Given the description of an element on the screen output the (x, y) to click on. 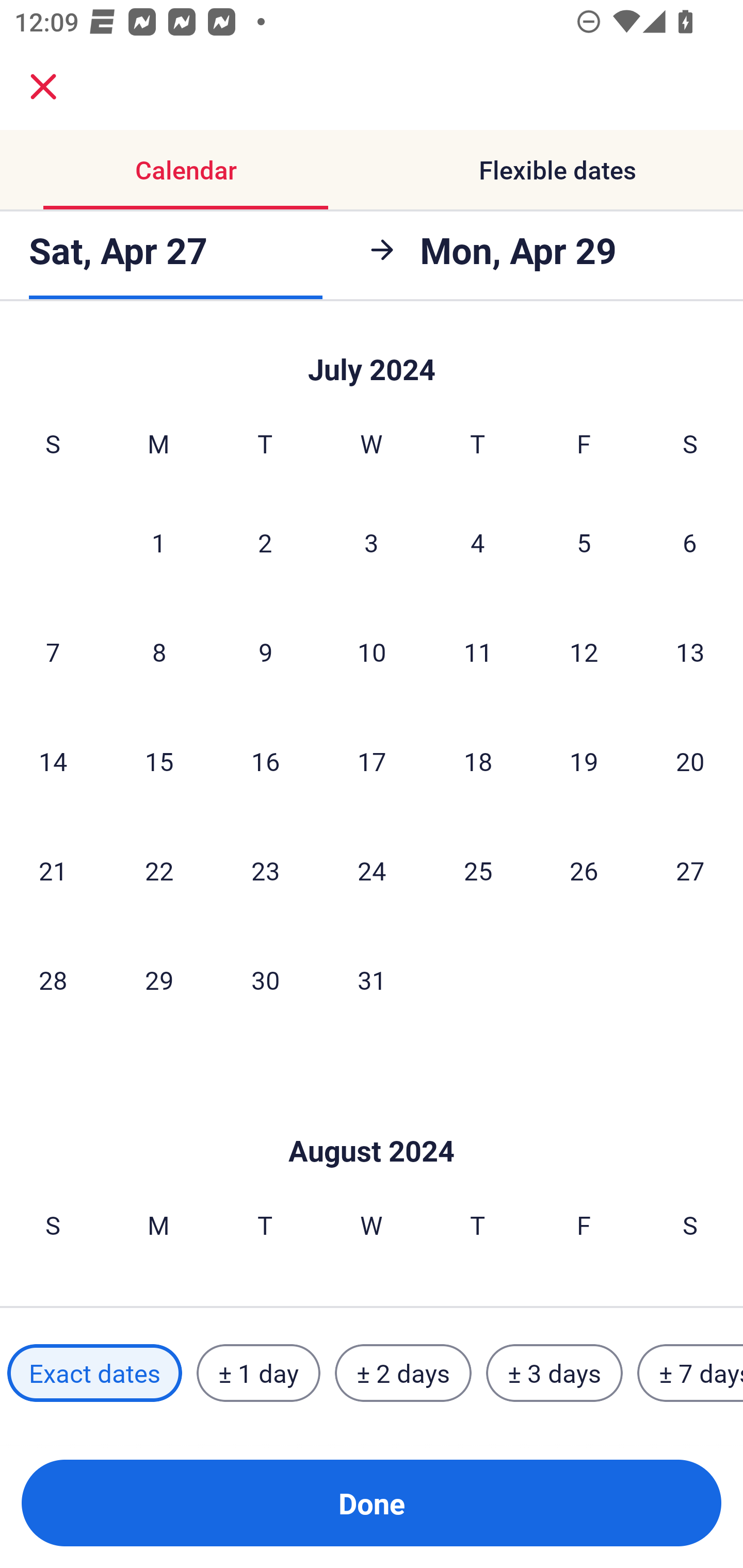
close. (43, 86)
Flexible dates (557, 170)
Skip to Done (371, 356)
1 Monday, July 1, 2024 (158, 542)
2 Tuesday, July 2, 2024 (264, 542)
3 Wednesday, July 3, 2024 (371, 542)
4 Thursday, July 4, 2024 (477, 542)
5 Friday, July 5, 2024 (583, 542)
6 Saturday, July 6, 2024 (689, 542)
7 Sunday, July 7, 2024 (53, 651)
8 Monday, July 8, 2024 (159, 651)
9 Tuesday, July 9, 2024 (265, 651)
10 Wednesday, July 10, 2024 (371, 651)
11 Thursday, July 11, 2024 (477, 651)
12 Friday, July 12, 2024 (584, 651)
13 Saturday, July 13, 2024 (690, 651)
14 Sunday, July 14, 2024 (53, 760)
15 Monday, July 15, 2024 (159, 760)
16 Tuesday, July 16, 2024 (265, 760)
17 Wednesday, July 17, 2024 (371, 760)
18 Thursday, July 18, 2024 (477, 760)
19 Friday, July 19, 2024 (584, 760)
20 Saturday, July 20, 2024 (690, 760)
21 Sunday, July 21, 2024 (53, 869)
22 Monday, July 22, 2024 (159, 869)
23 Tuesday, July 23, 2024 (265, 869)
24 Wednesday, July 24, 2024 (371, 869)
25 Thursday, July 25, 2024 (477, 869)
26 Friday, July 26, 2024 (584, 869)
27 Saturday, July 27, 2024 (690, 869)
28 Sunday, July 28, 2024 (53, 979)
29 Monday, July 29, 2024 (159, 979)
30 Tuesday, July 30, 2024 (265, 979)
31 Wednesday, July 31, 2024 (371, 979)
Skip to Done (371, 1120)
Exact dates (94, 1372)
± 1 day (258, 1372)
± 2 days (403, 1372)
± 3 days (553, 1372)
± 7 days (690, 1372)
Done (371, 1502)
